Given the description of an element on the screen output the (x, y) to click on. 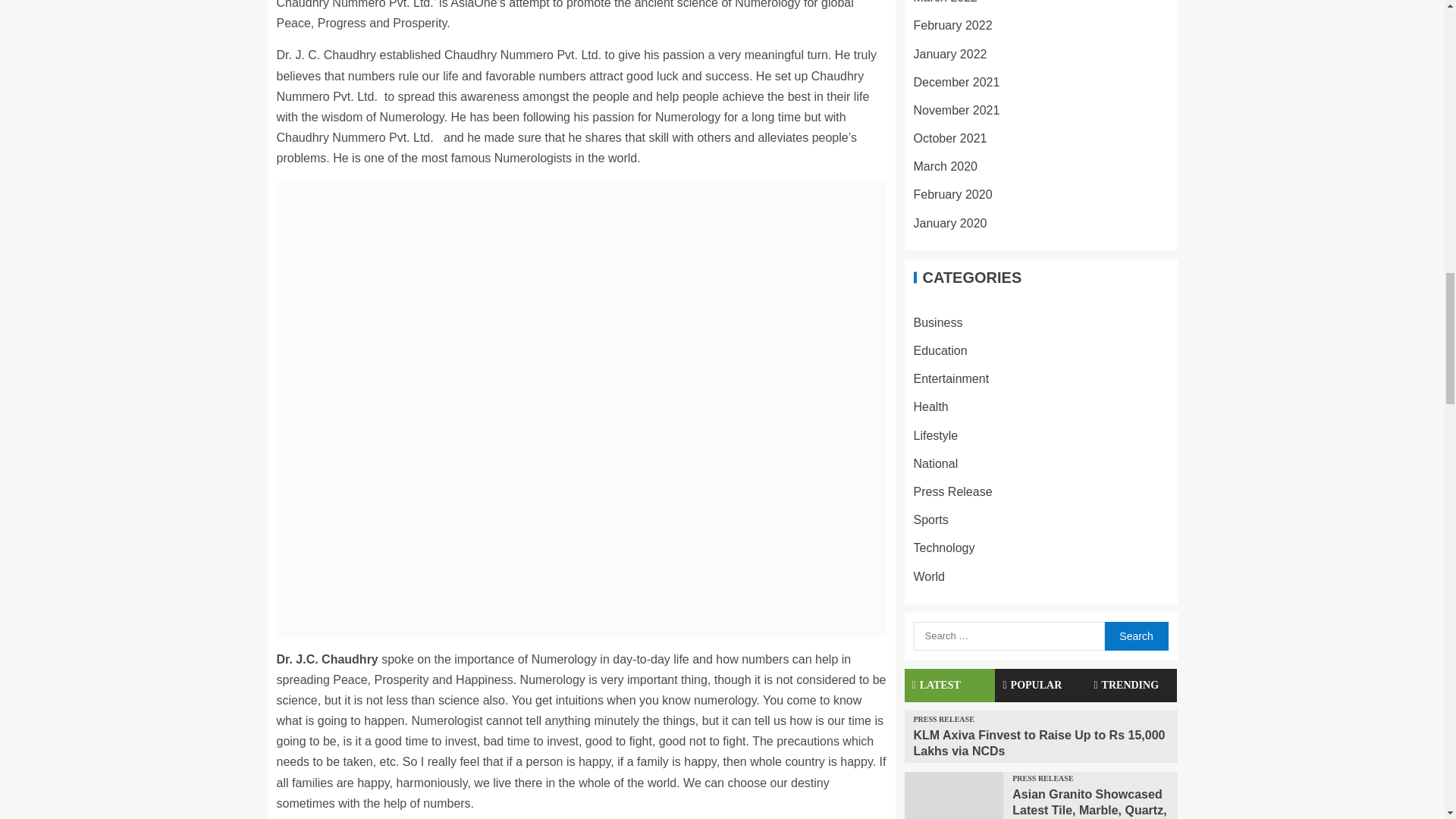
Search (1135, 635)
Search (1135, 635)
